Given the description of an element on the screen output the (x, y) to click on. 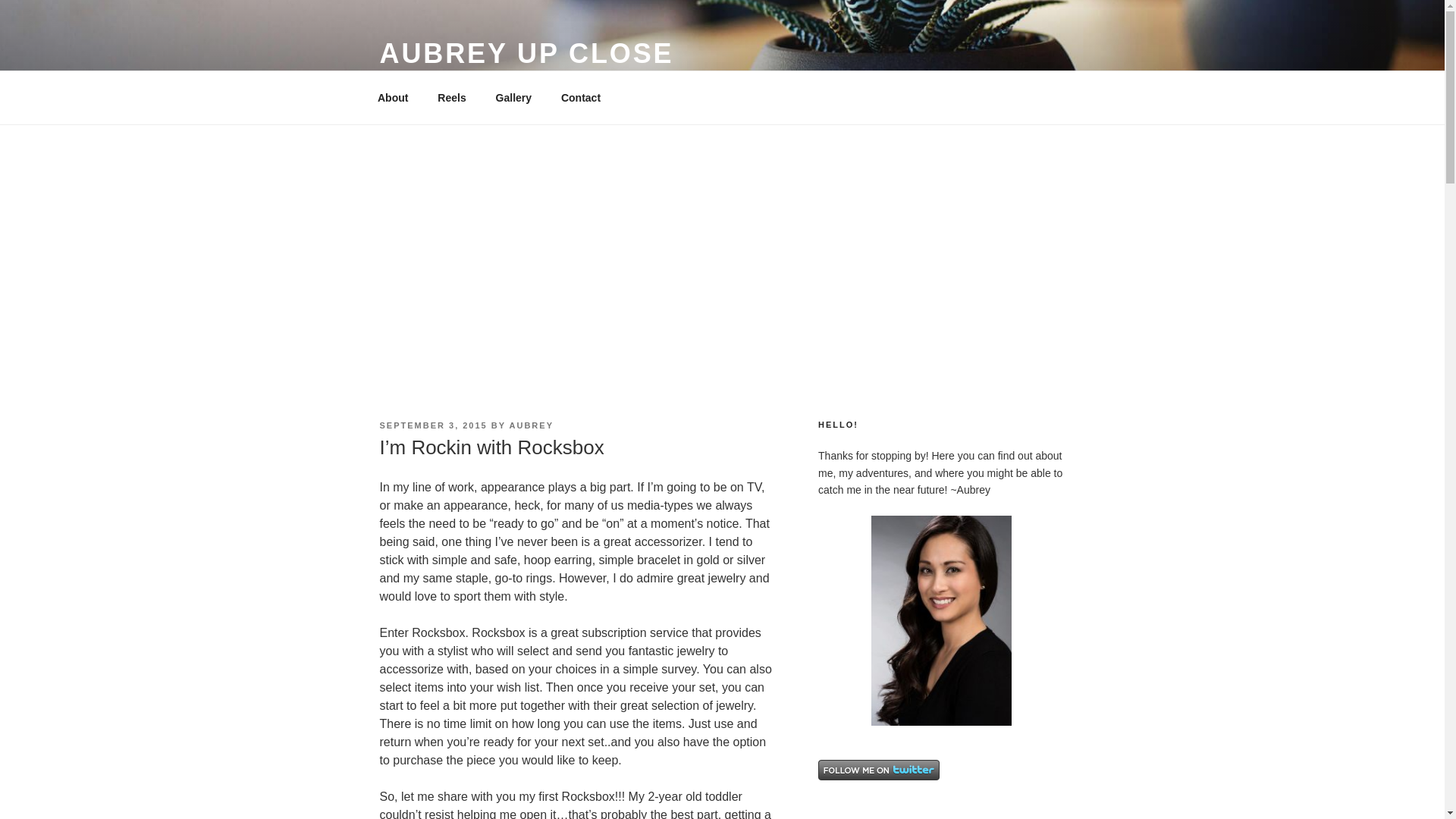
Gallery (512, 97)
Reels (452, 97)
Contact (579, 97)
About (392, 97)
AUBREY (531, 424)
SEPTEMBER 3, 2015 (432, 424)
AUBREY UP CLOSE (525, 52)
